Given the description of an element on the screen output the (x, y) to click on. 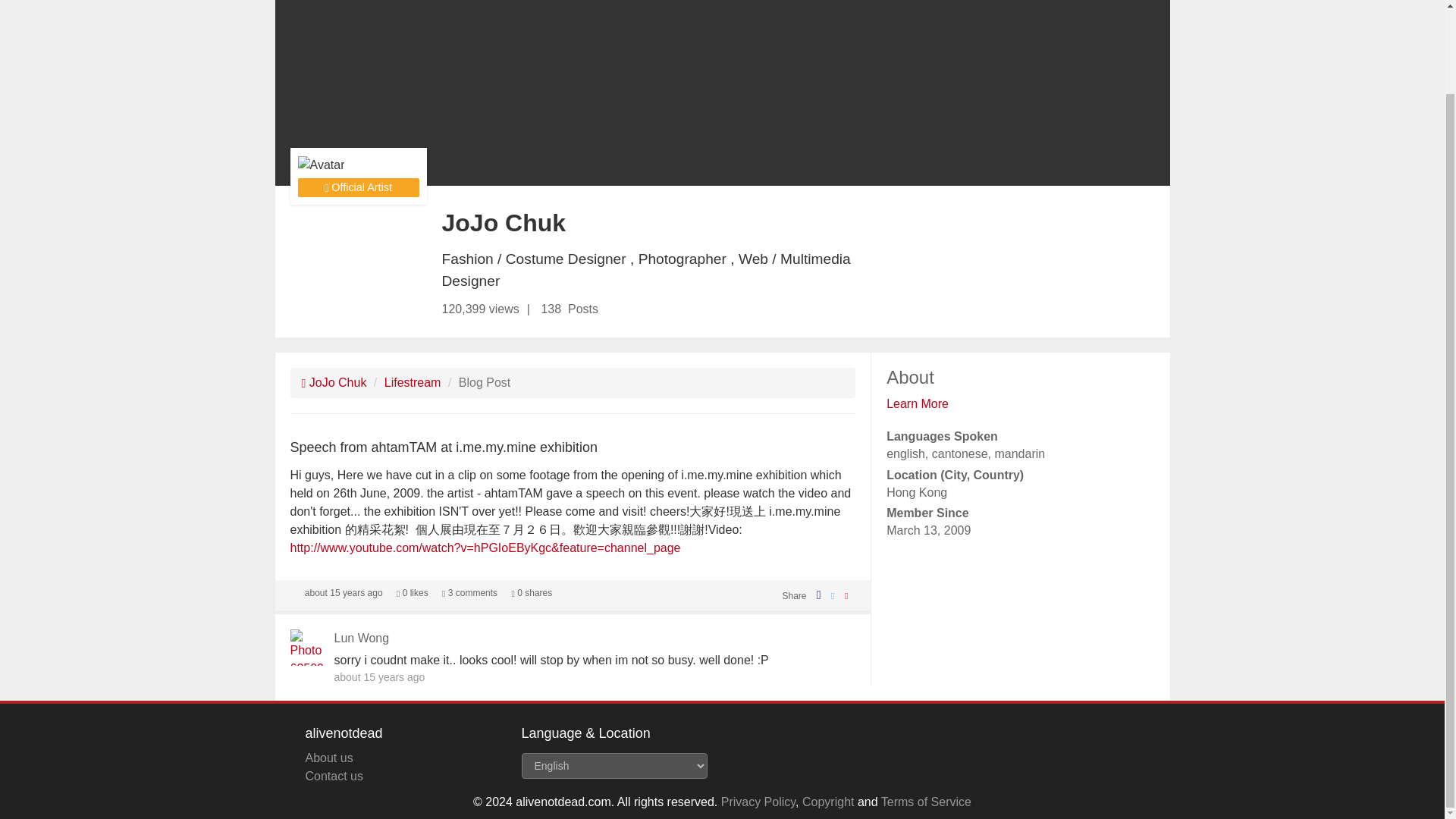
 3 comments (469, 593)
Terms of Service (925, 801)
Copyright (827, 801)
about 15 years ago (343, 593)
Contact us (333, 775)
Privacy Policy (757, 801)
Lun Wong (360, 637)
Learn More (917, 403)
About us (328, 757)
JoJo Chuk (333, 382)
